Given the description of an element on the screen output the (x, y) to click on. 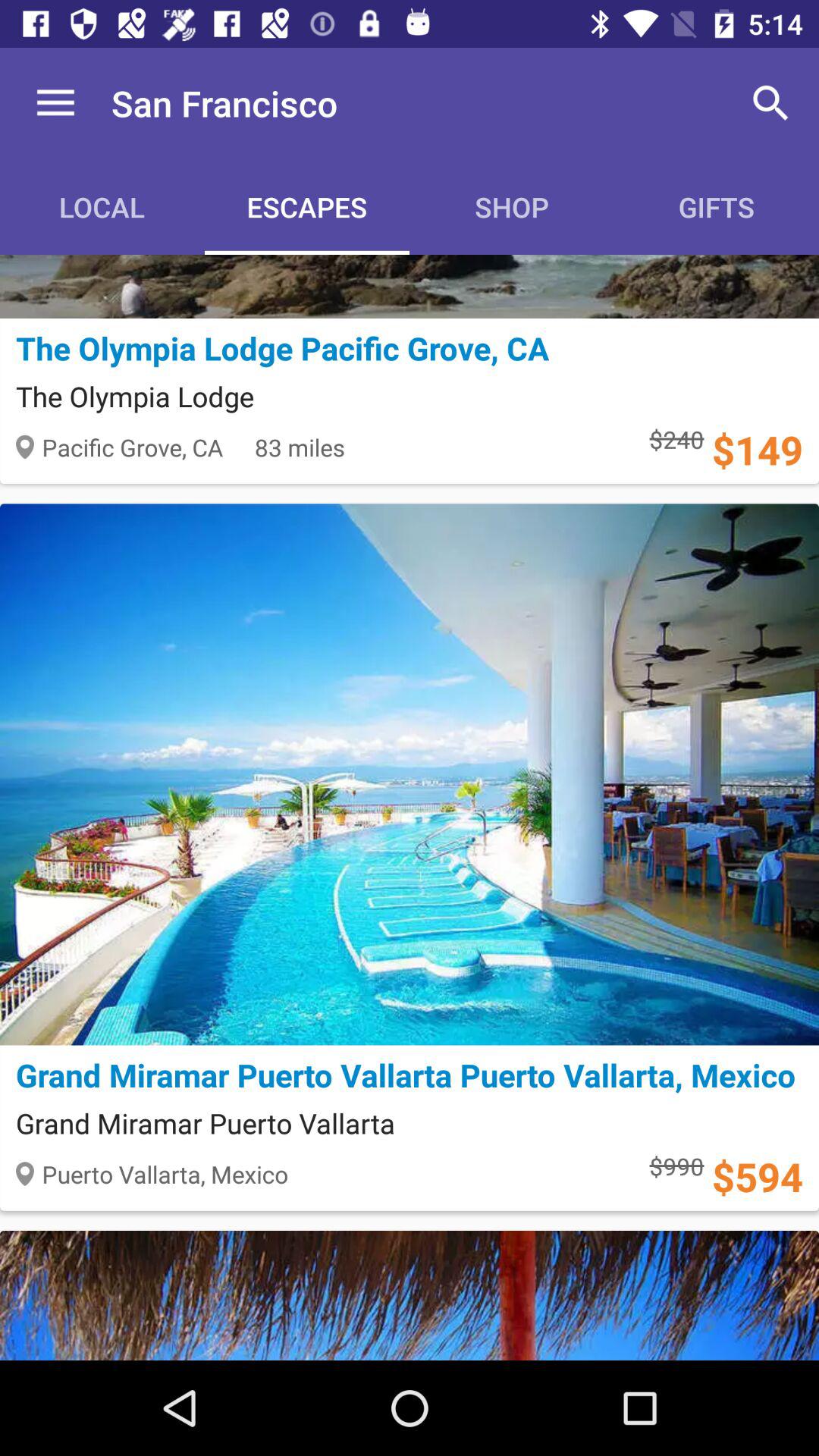
press the item above gifts (771, 103)
